Given the description of an element on the screen output the (x, y) to click on. 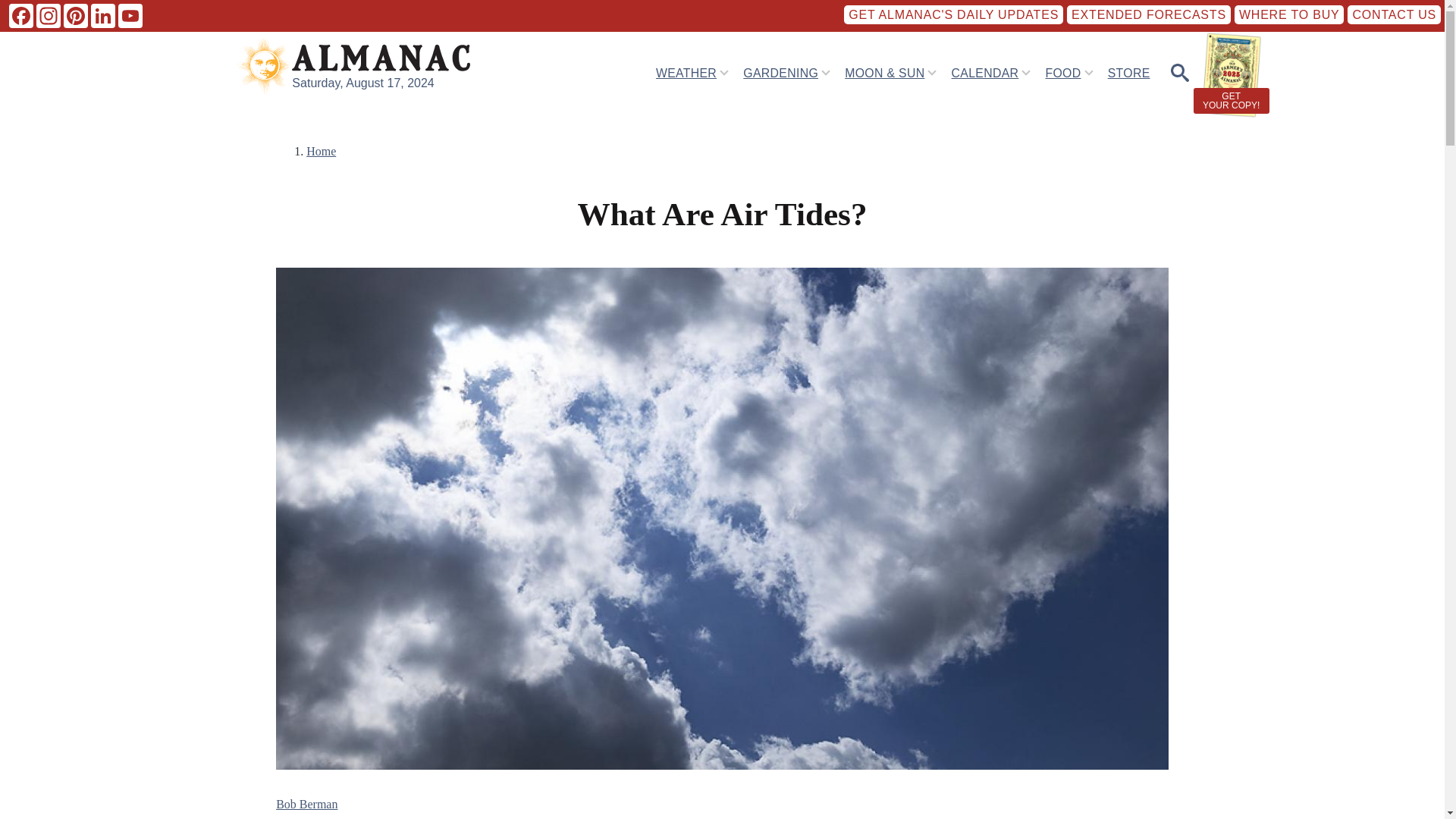
WHERE TO BUY (1288, 14)
LinkedIn (102, 15)
Pinterest (75, 15)
Instagram (48, 15)
Skip to main content (595, 6)
GARDENING (780, 72)
CONTACT US (1394, 14)
YouTube (130, 15)
EXTENDED FORECASTS (1148, 14)
GET ALMANAC'S DAILY UPDATES (953, 14)
